Given the description of an element on the screen output the (x, y) to click on. 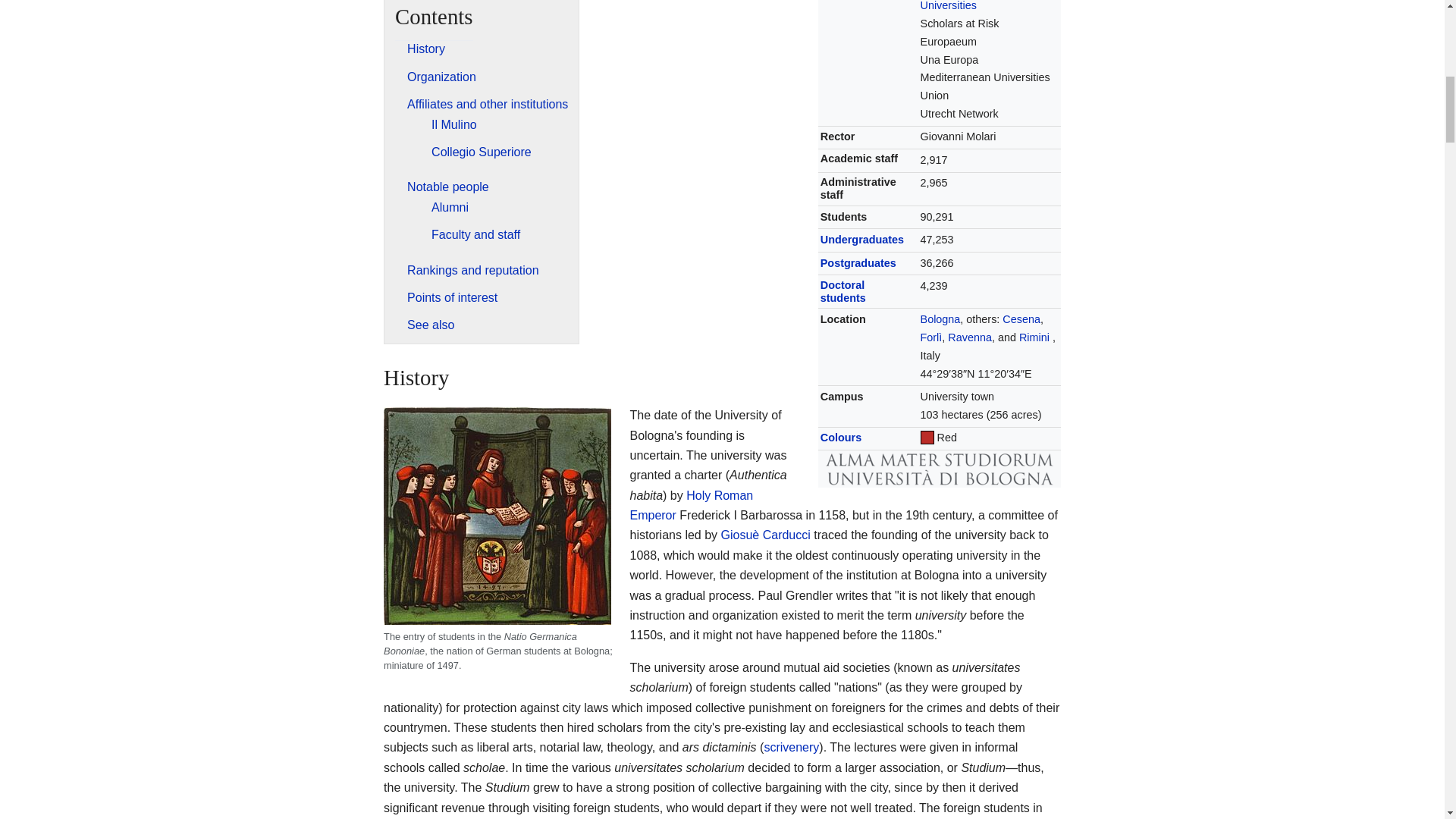
Cesena (1022, 318)
International Association of Universities (985, 6)
Postgraduates (858, 263)
Rimini (1034, 337)
Ravenna (969, 337)
Bologna (940, 318)
Bologna (940, 318)
Colours (841, 437)
Rimini (1034, 337)
School colors (841, 437)
Undergraduates (862, 239)
Cesena (1022, 318)
Doctoral students (843, 291)
International Association of Universities (985, 6)
Postgraduate education (858, 263)
